Given the description of an element on the screen output the (x, y) to click on. 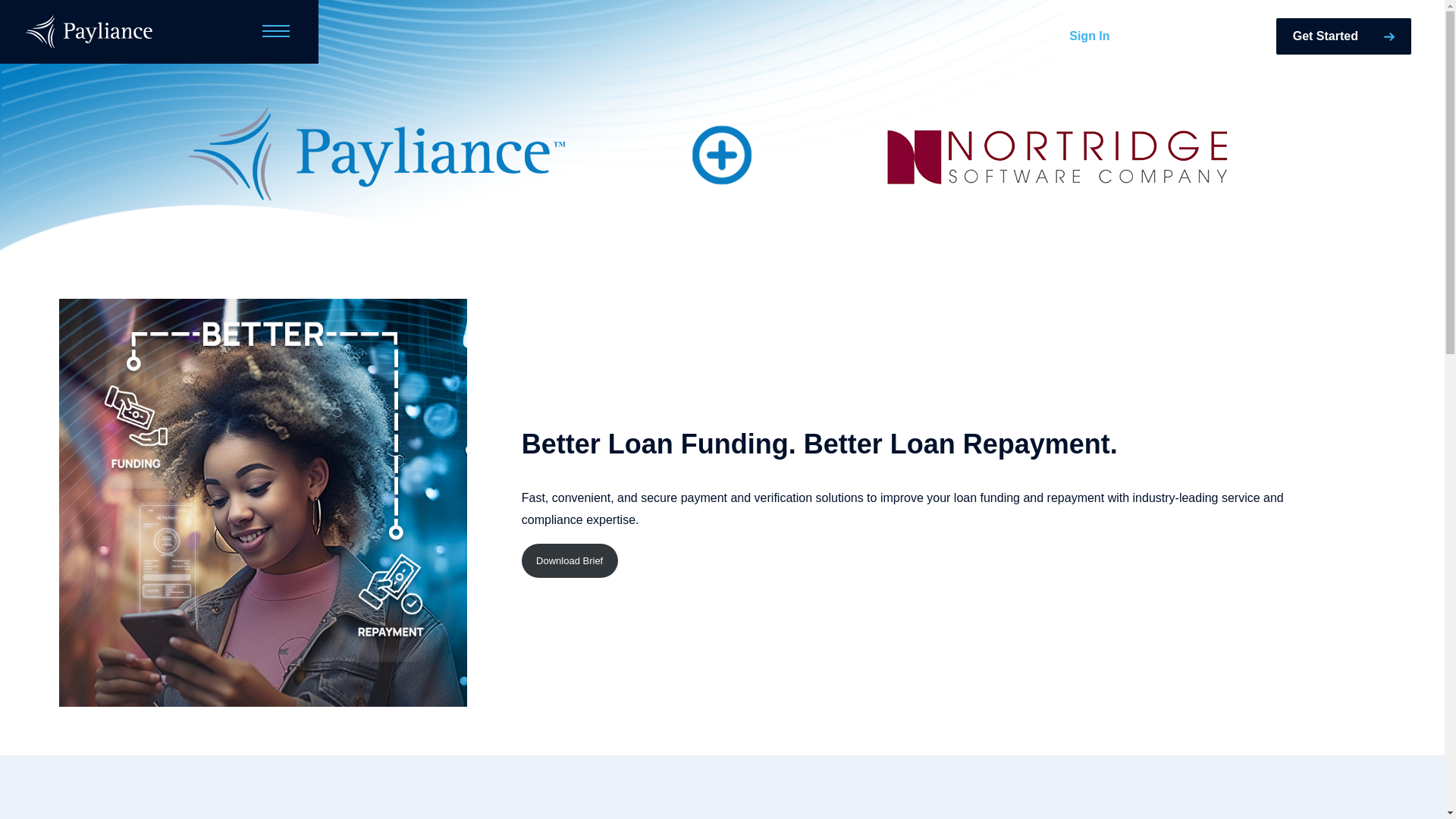
Partner page- Nortridge 1 (382, 155)
Partner page- Nortridge 3 (1062, 155)
Partner page- Nortridge 2 (722, 155)
